Given the description of an element on the screen output the (x, y) to click on. 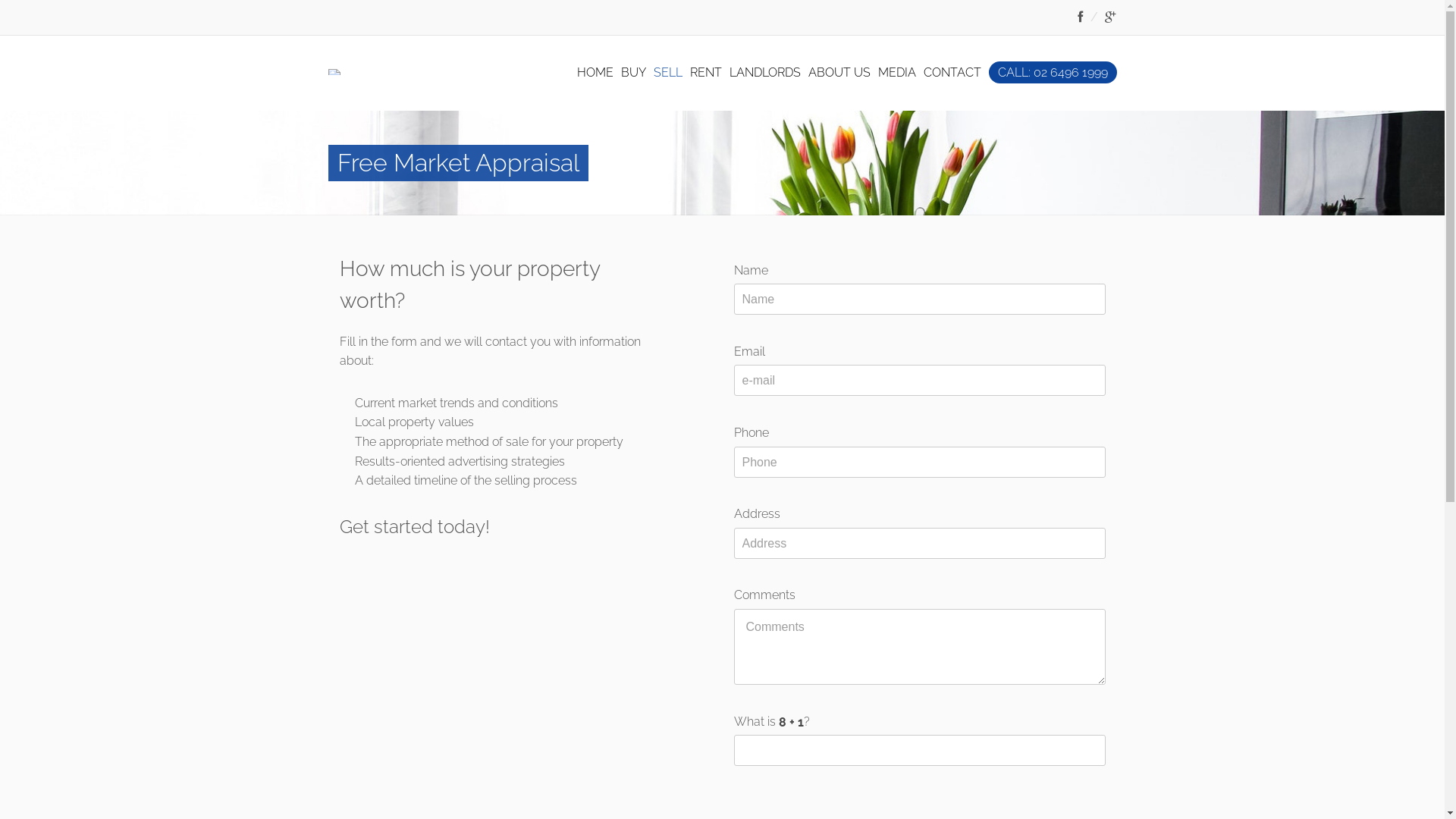
ABOUT US Element type: text (839, 72)
CALL: 02 6496 1999 Element type: text (1052, 72)
MEDIA Element type: text (897, 72)
CONTACT Element type: text (952, 72)
RENT Element type: text (705, 72)
BUY Element type: text (632, 72)
LANDLORDS Element type: text (764, 72)
HOME Element type: text (594, 72)
SELL Element type: text (667, 72)
